Given the description of an element on the screen output the (x, y) to click on. 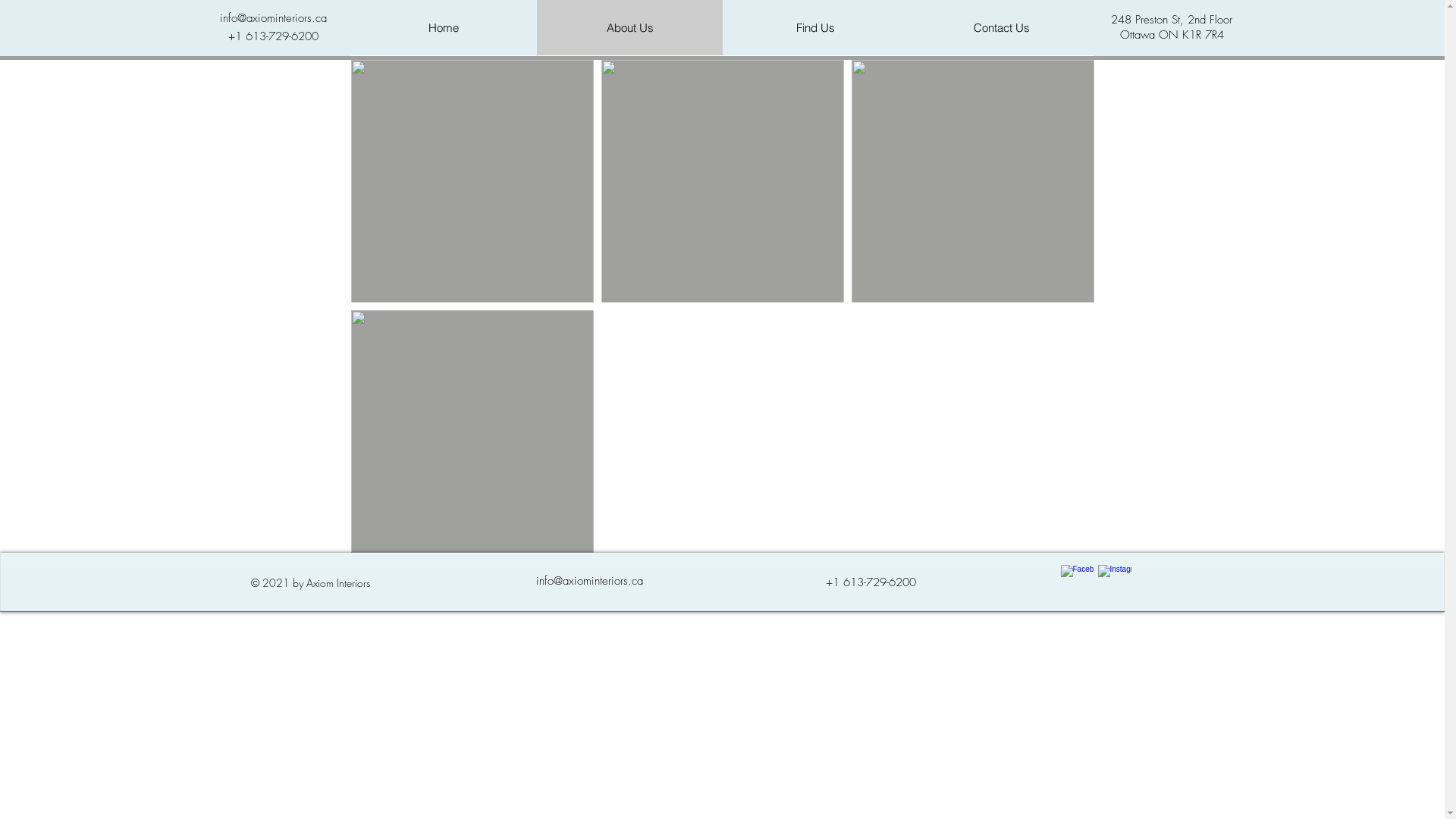
Find Us Element type: text (814, 27)
Home Element type: text (443, 27)
info@axiominteriors.ca Element type: text (272, 17)
About Us Element type: text (629, 27)
Contact Us Element type: text (1001, 27)
info@axiominteriors.ca Element type: text (588, 580)
